Given the description of an element on the screen output the (x, y) to click on. 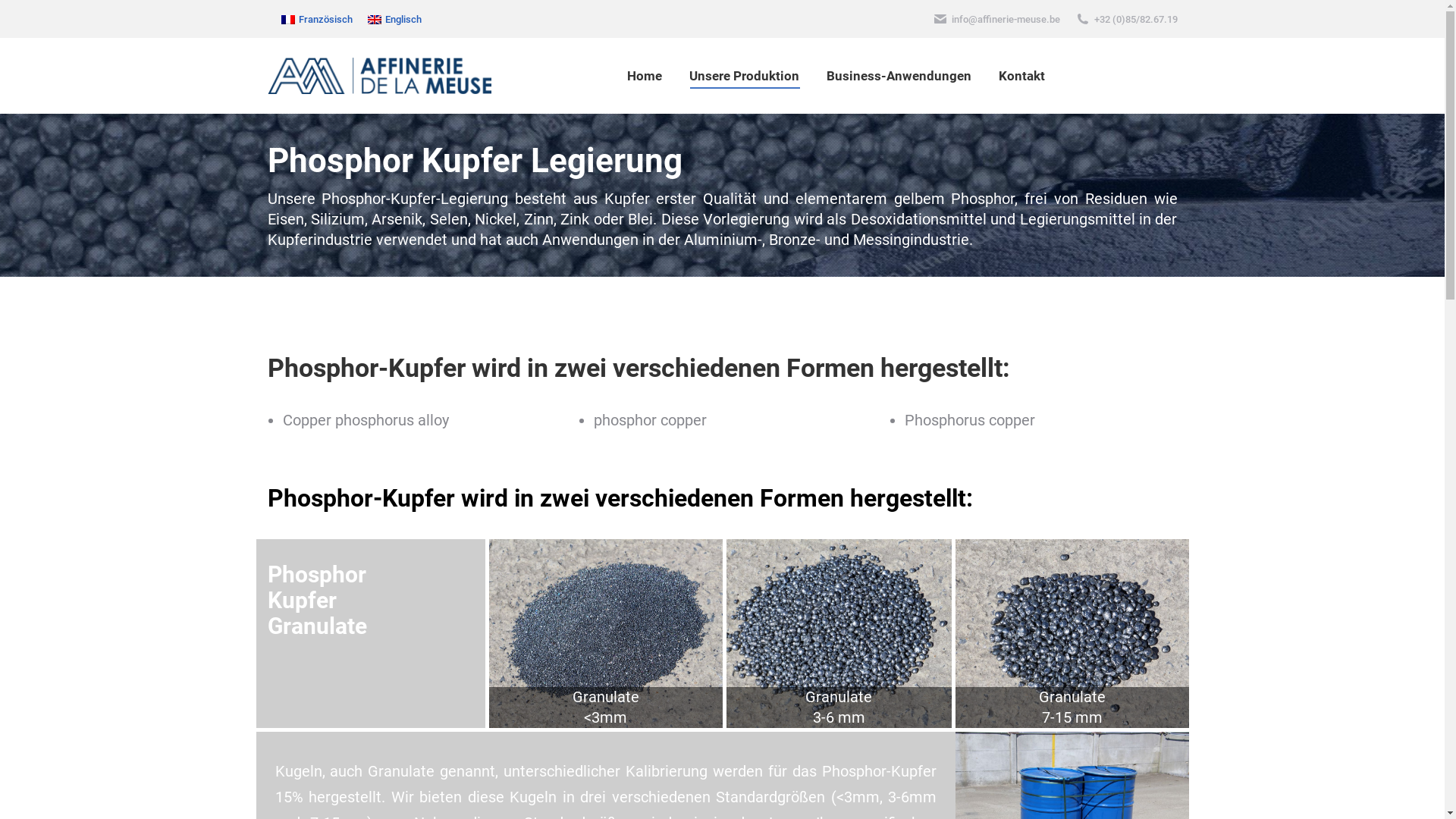
Business-Anwendungen Element type: text (898, 75)
Englisch Element type: text (394, 18)
Home Element type: text (644, 75)
info@affinerie-meuse.be Element type: text (1004, 19)
Kontakt Element type: text (1021, 75)
English Element type: hover (374, 19)
Unsere Produktion Element type: text (744, 75)
+32 (0)85/82.67.19 Element type: text (1134, 19)
